Given the description of an element on the screen output the (x, y) to click on. 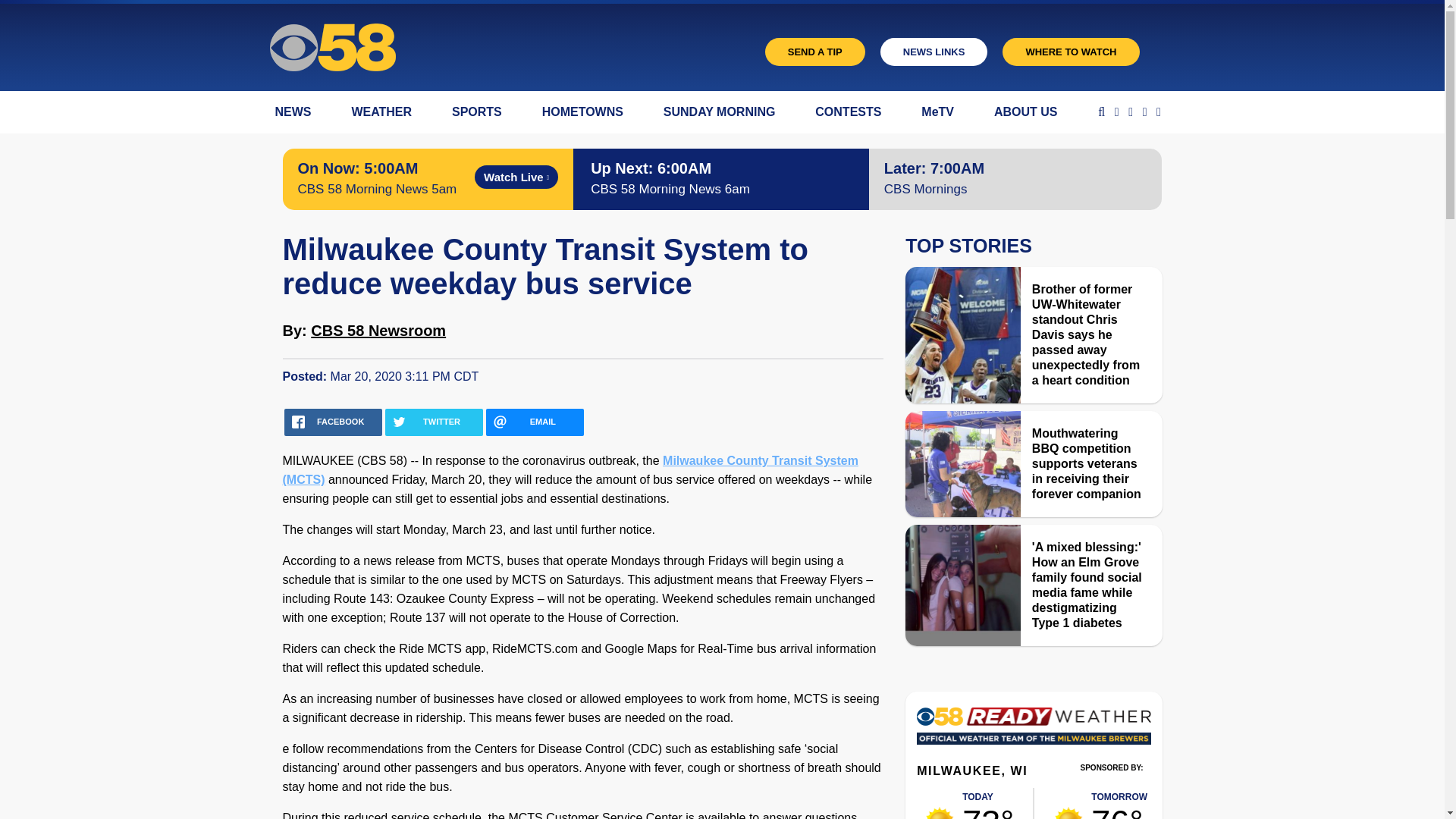
weather (987, 803)
weather (1067, 812)
Weather (1033, 730)
weather (1118, 803)
weather (939, 812)
